Given the description of an element on the screen output the (x, y) to click on. 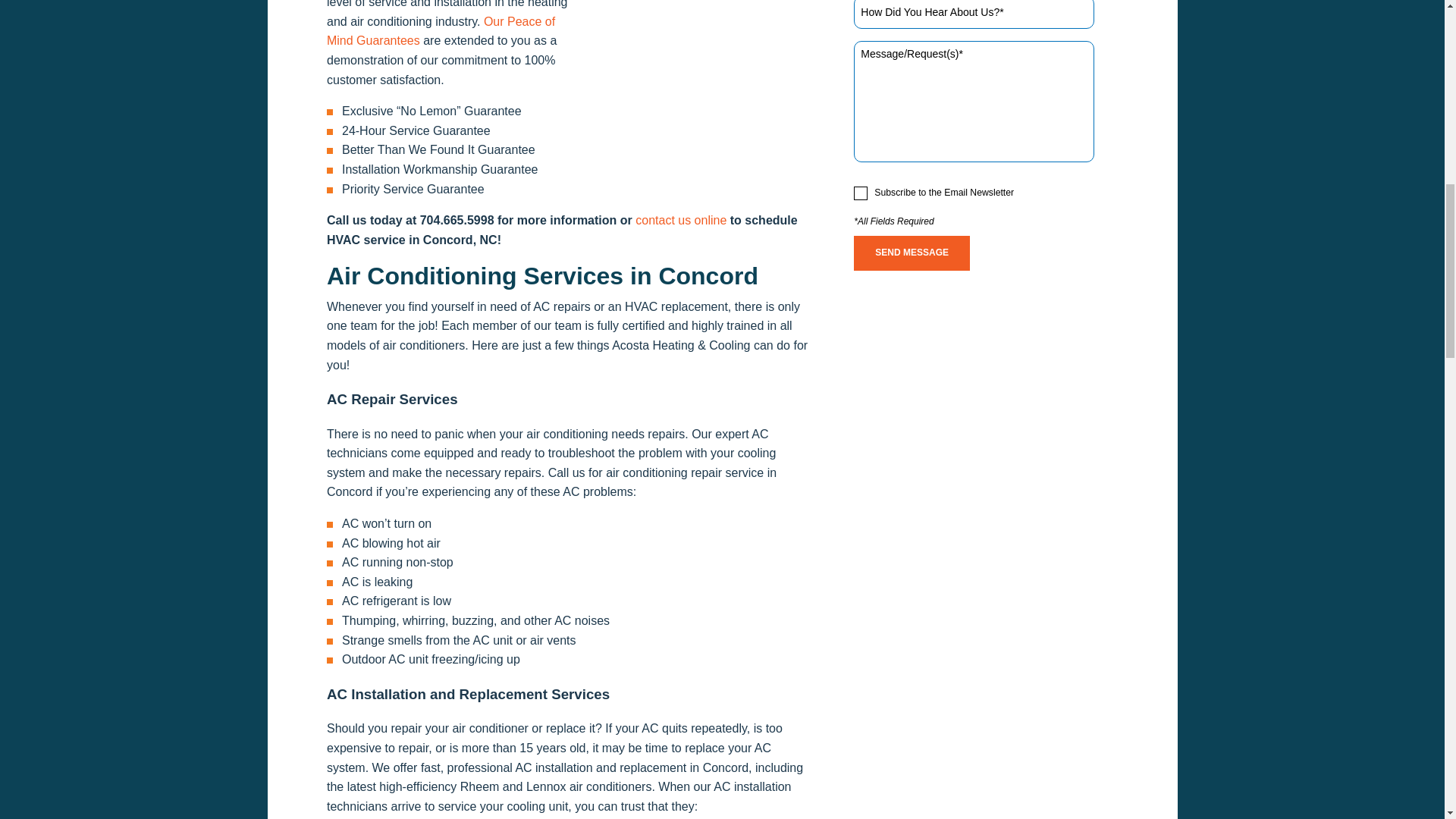
Send Message (911, 253)
